Given the description of an element on the screen output the (x, y) to click on. 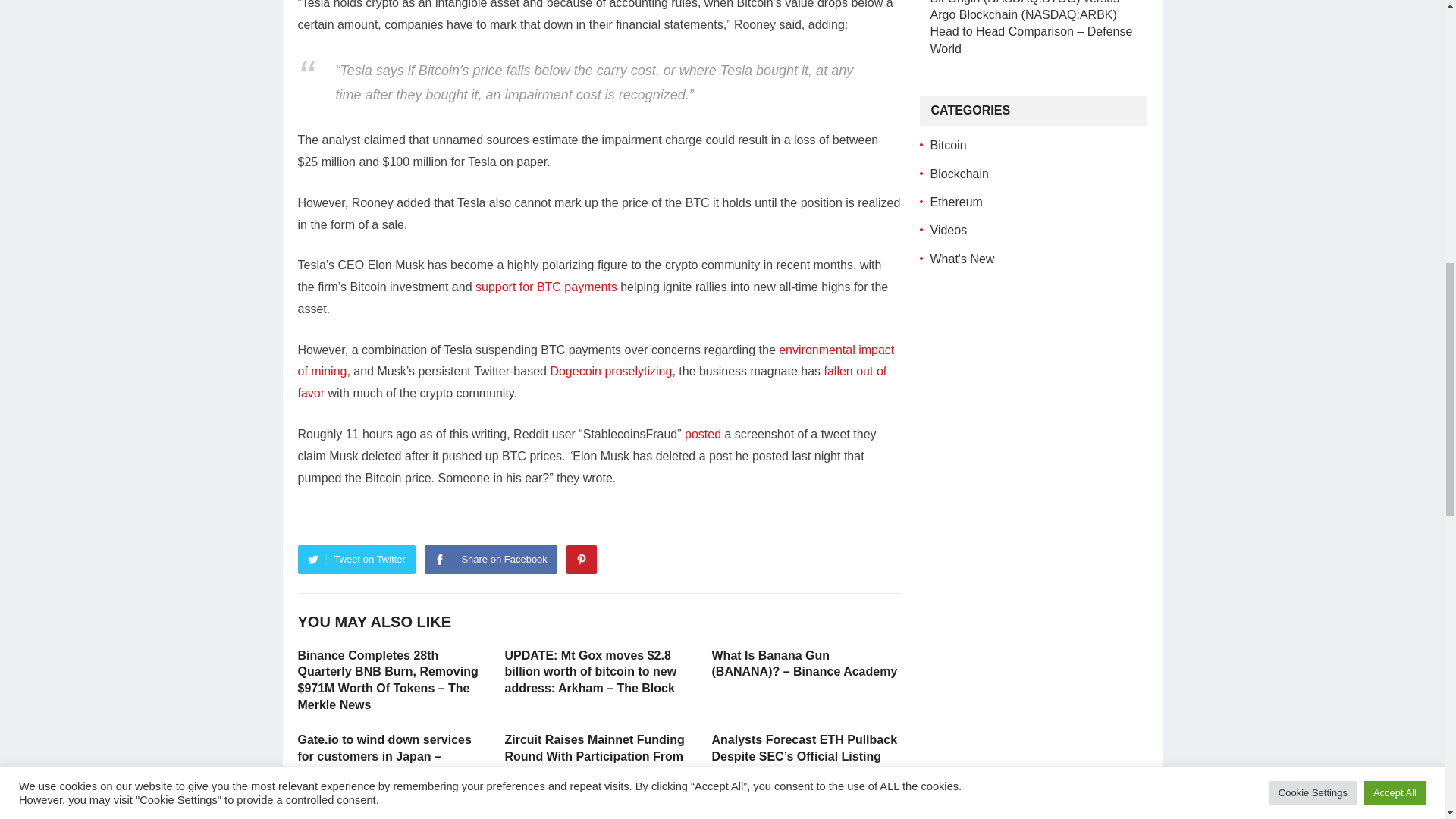
posted (702, 433)
support for BTC payments (546, 286)
fallen out of favor (591, 381)
Pinterest (581, 559)
environmental impact of mining (595, 360)
Tweet on Twitter (355, 559)
Share on Facebook (490, 559)
Dogecoin proselytizing (610, 370)
Latest Trending News about Blockchain (959, 173)
